Given the description of an element on the screen output the (x, y) to click on. 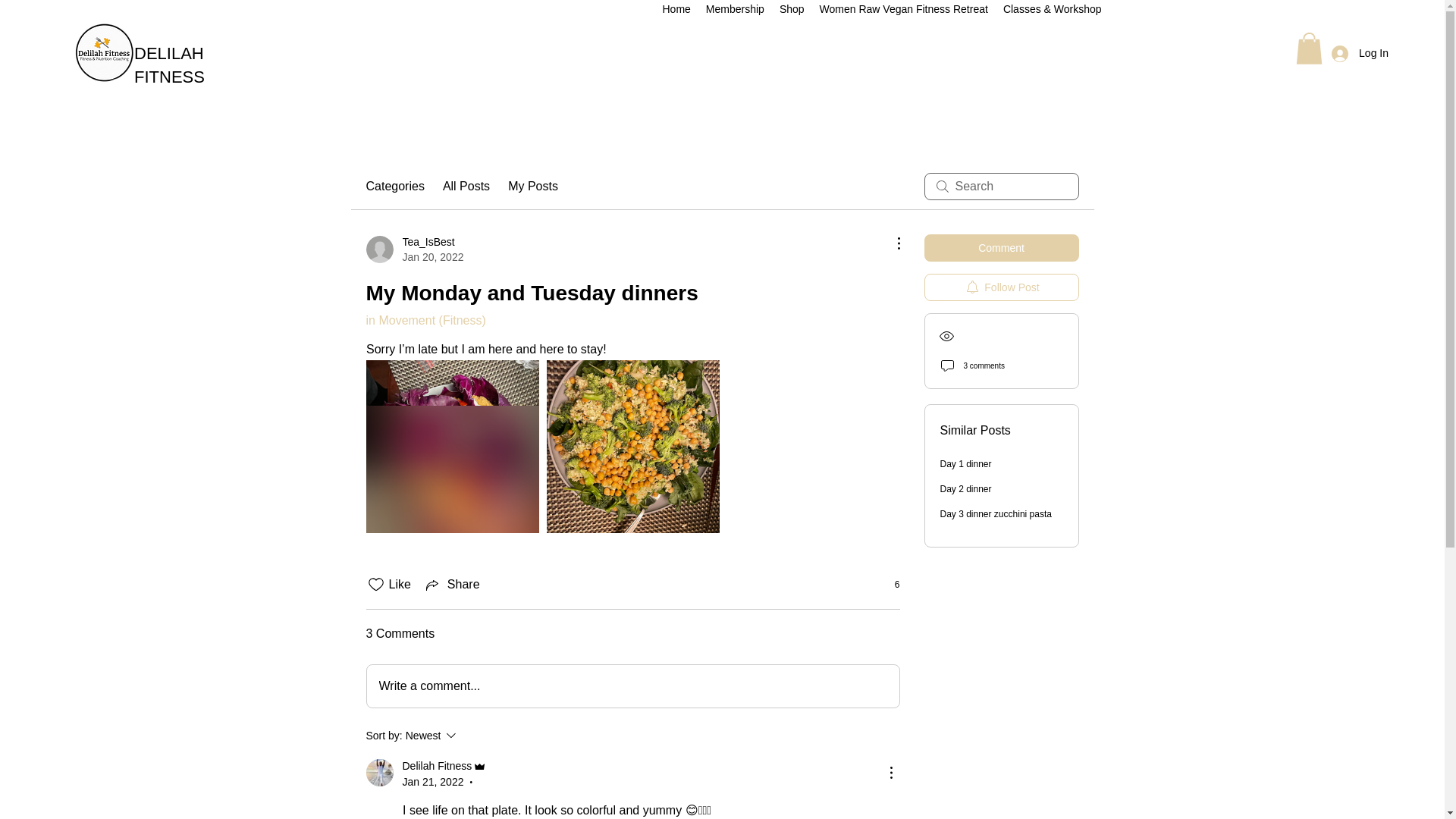
Home (676, 11)
Day 2 dinner (965, 489)
Delilah Fitness (379, 772)
Log In (1359, 53)
All Posts (465, 186)
Write a comment... (632, 686)
My Posts (532, 186)
6 (888, 584)
Share (451, 584)
Women Raw Vegan Fitness Retreat (903, 11)
